Given the description of an element on the screen output the (x, y) to click on. 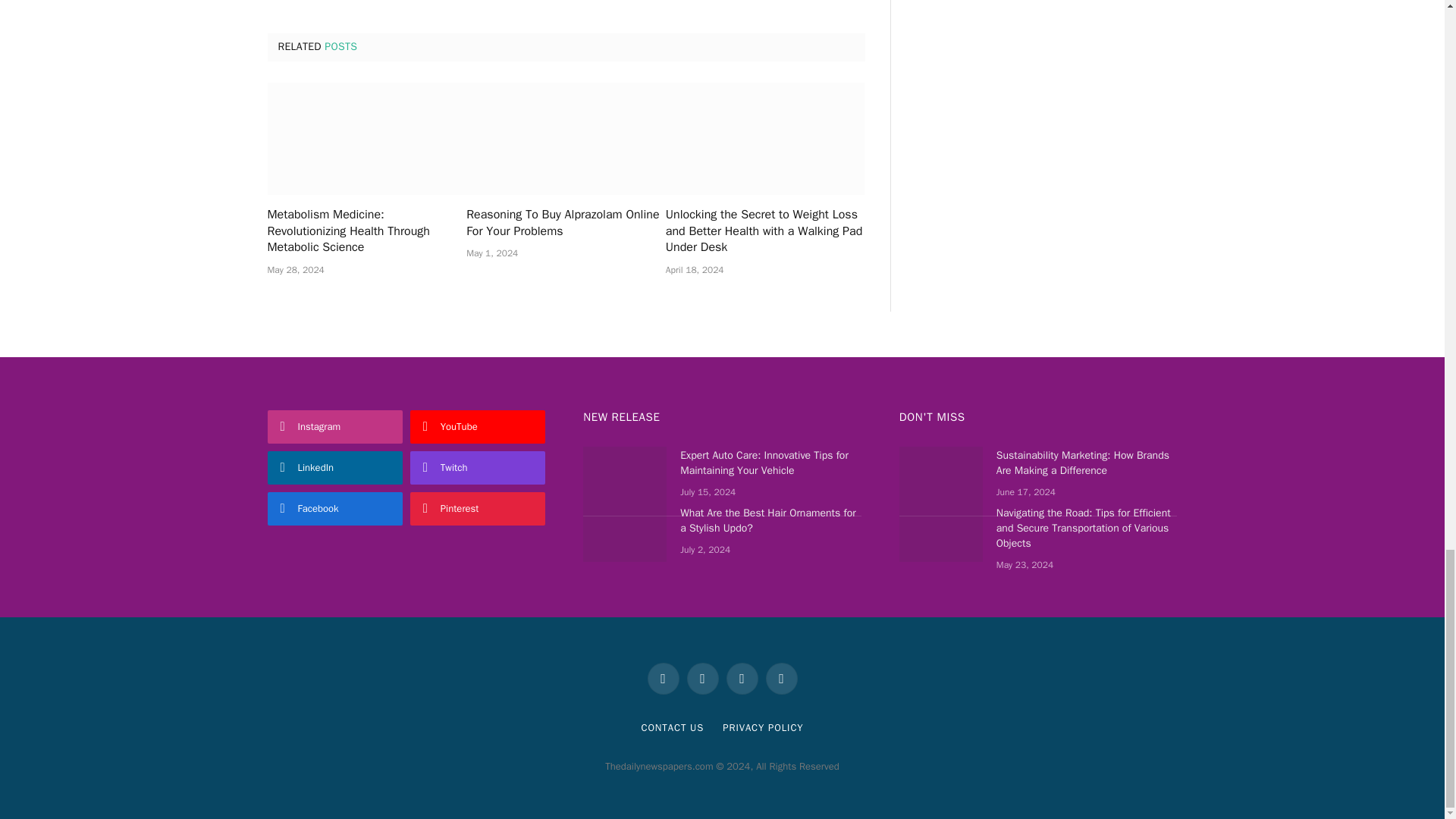
Reasoning To Buy Alprazolam Online For Your Problems (565, 223)
Reasoning To Buy Alprazolam Online For Your Problems (565, 138)
